Given the description of an element on the screen output the (x, y) to click on. 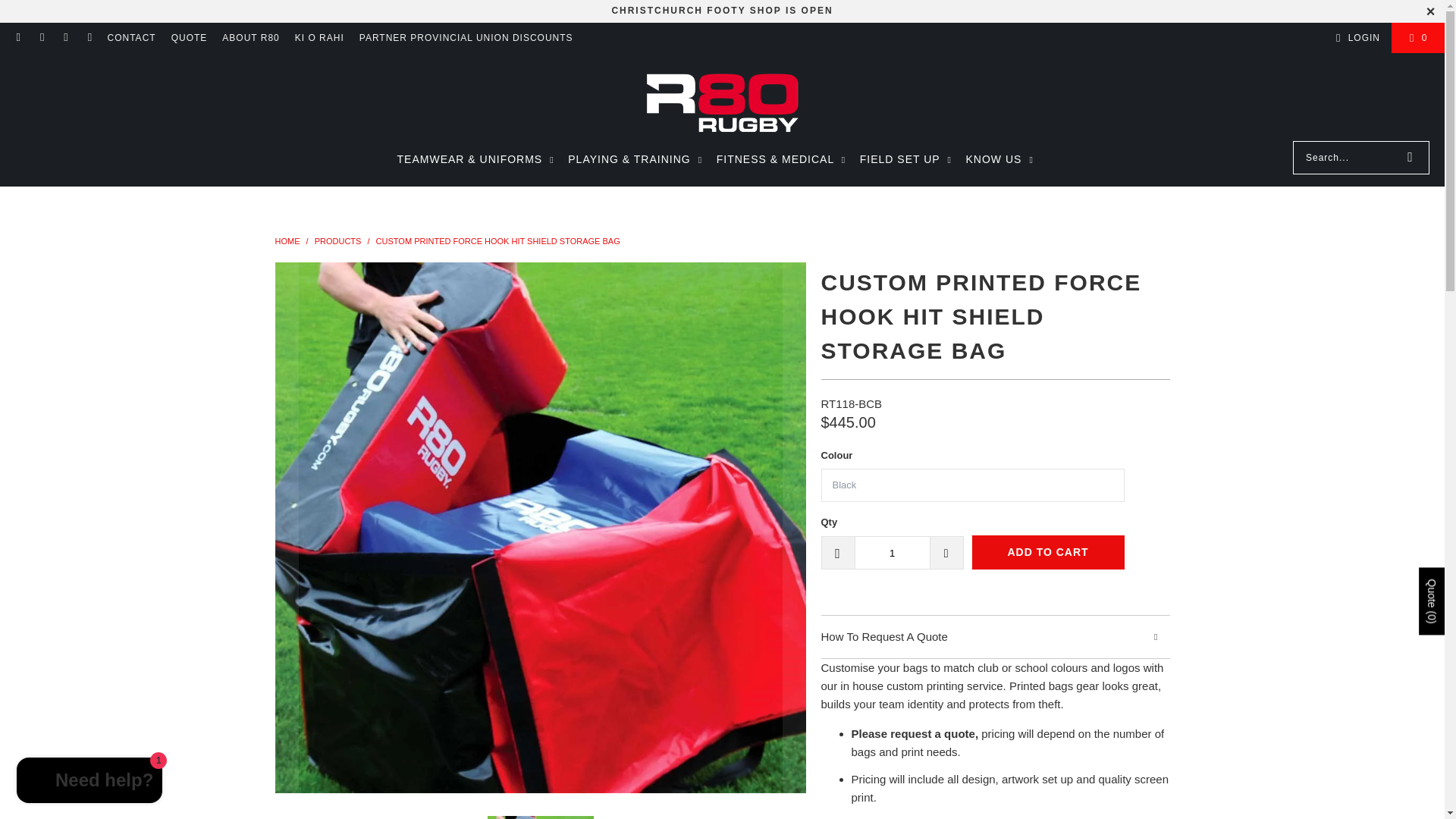
1 (891, 552)
Shopify online store chat (89, 781)
My Account  (1355, 37)
R80 Footy Shop (721, 9)
Email R80 Rugby  (17, 37)
Products (339, 240)
R80 Rugby  on Instagram (65, 37)
R80 Rugby  (288, 240)
R80 Rugby  on YouTube (89, 37)
R80 Rugby  (722, 100)
R80 Rugby  on Facebook (41, 37)
